Given the description of an element on the screen output the (x, y) to click on. 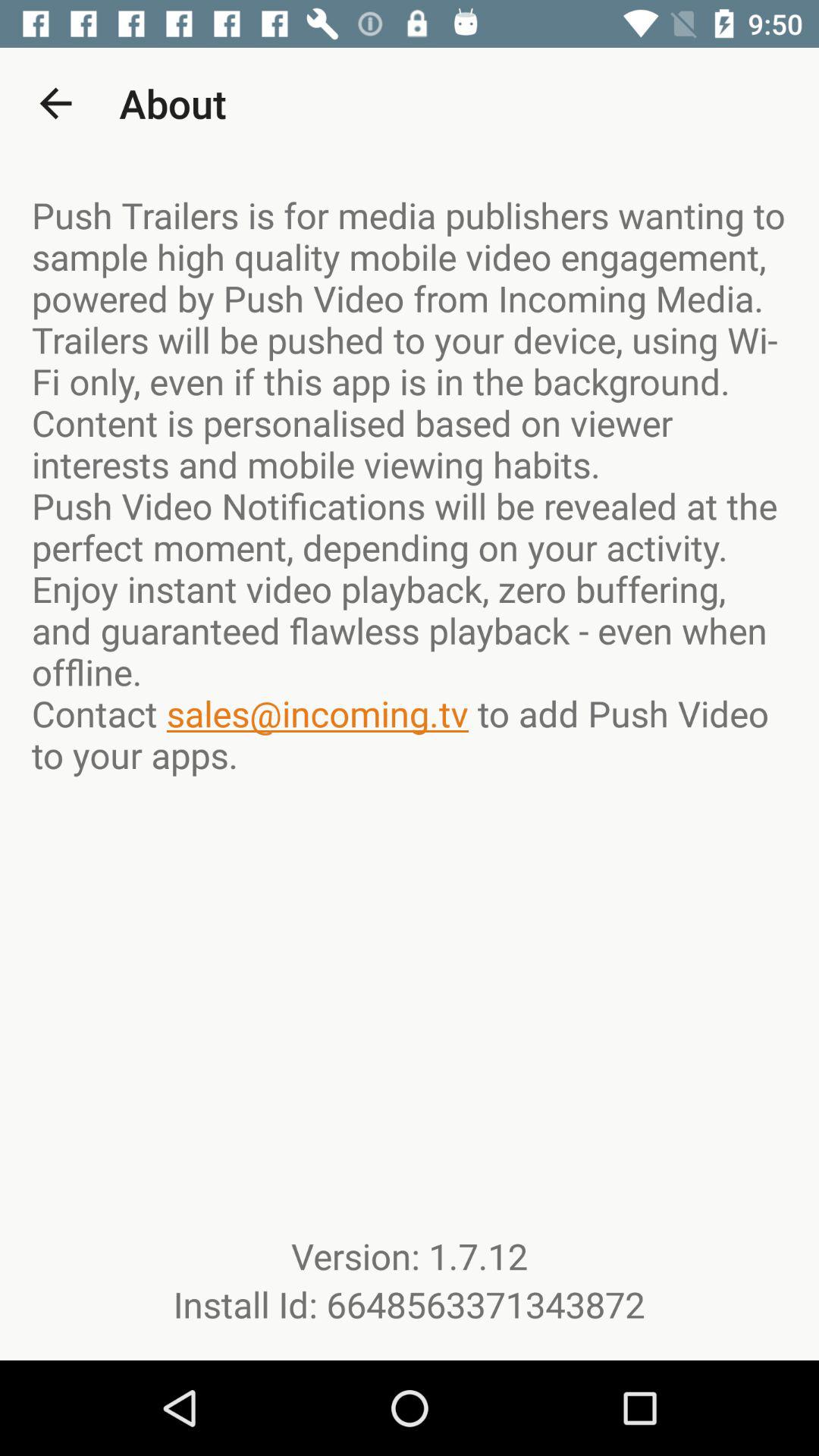
turn on icon next to the about item (55, 103)
